Given the description of an element on the screen output the (x, y) to click on. 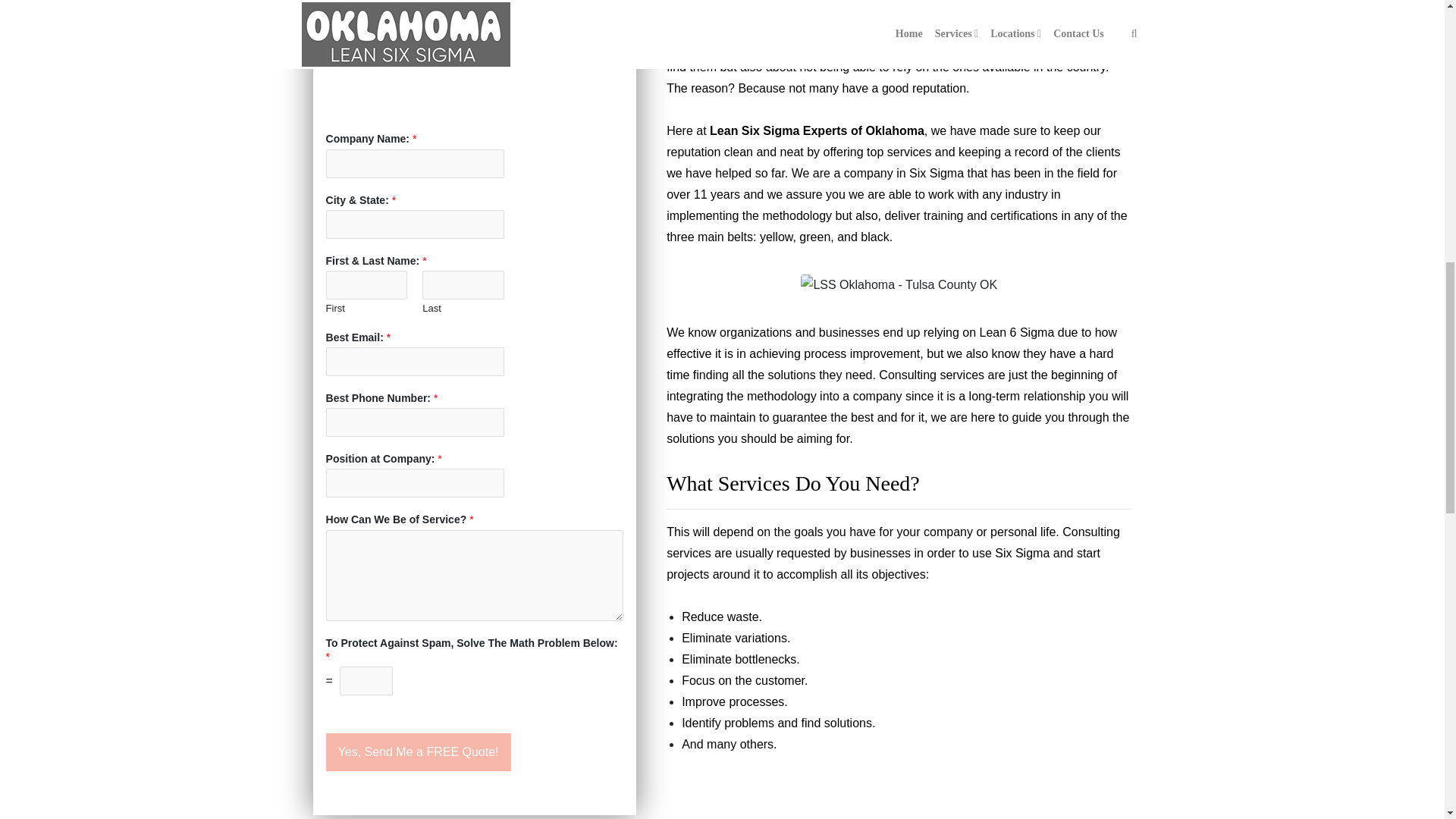
Lean Six Sigma Experts of Oklahoma (817, 130)
Yes, Send Me a FREE Quote! (418, 752)
